Given the description of an element on the screen output the (x, y) to click on. 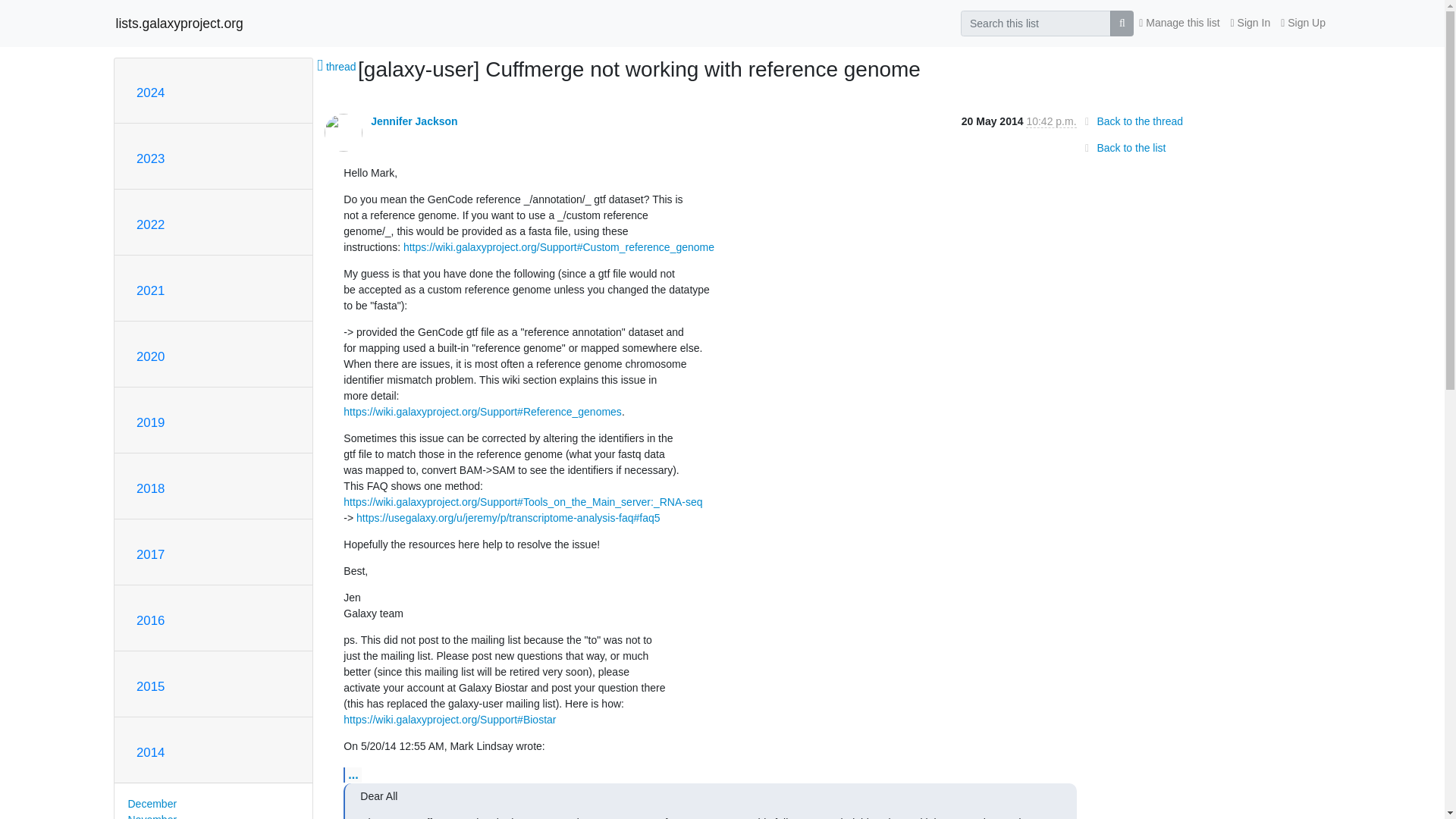
2024 (150, 92)
Manage this list (1179, 22)
2023 (150, 158)
lists.galaxyproject.org (179, 22)
See the profile for Jennifer Jackson (414, 121)
2022 (150, 224)
Sign Up (1302, 22)
Sign In (1250, 22)
Sender's time: May 20, 2014, 3:42 p.m. (1050, 121)
